Given the description of an element on the screen output the (x, y) to click on. 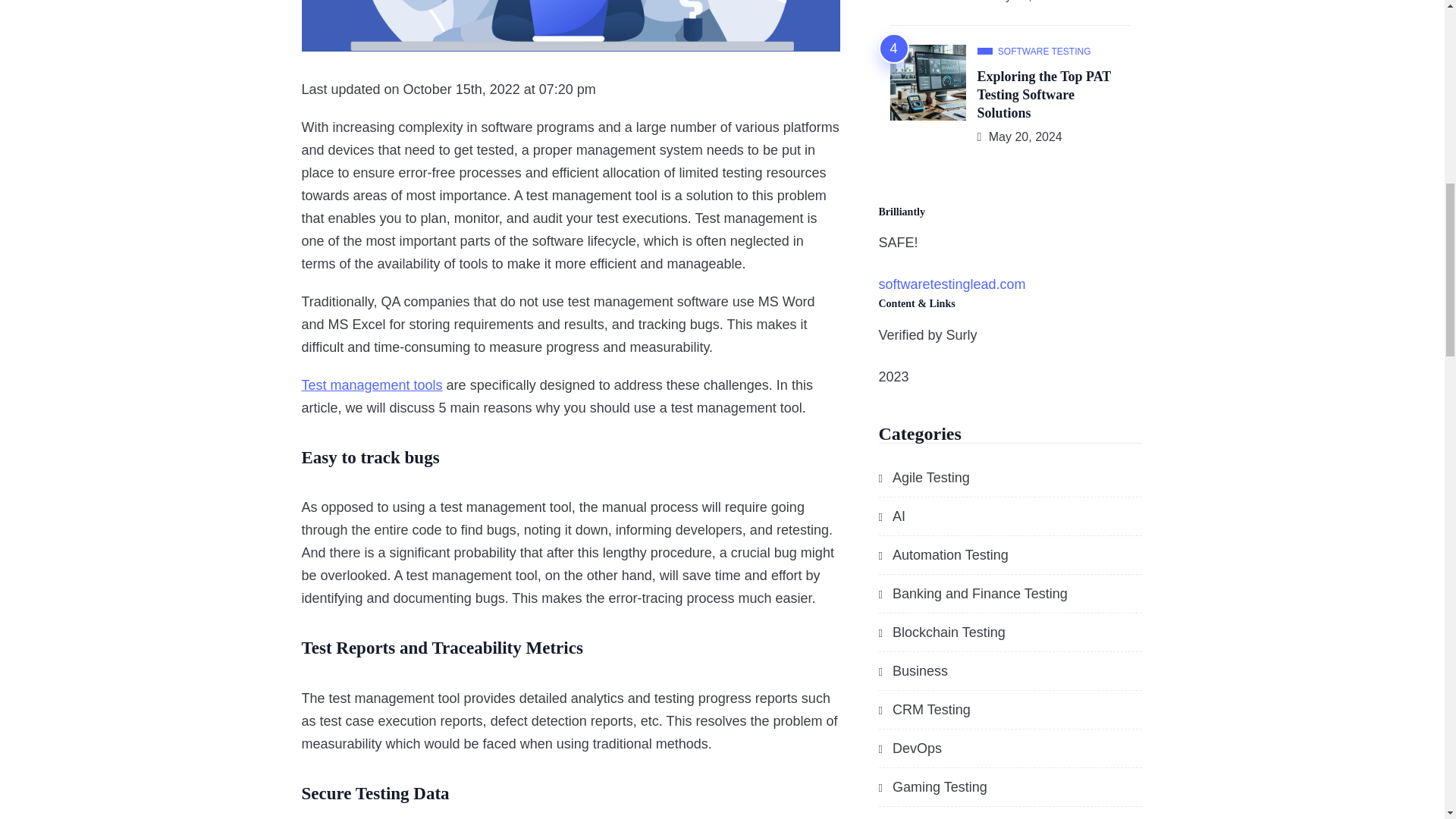
Test management tools (371, 384)
